Given the description of an element on the screen output the (x, y) to click on. 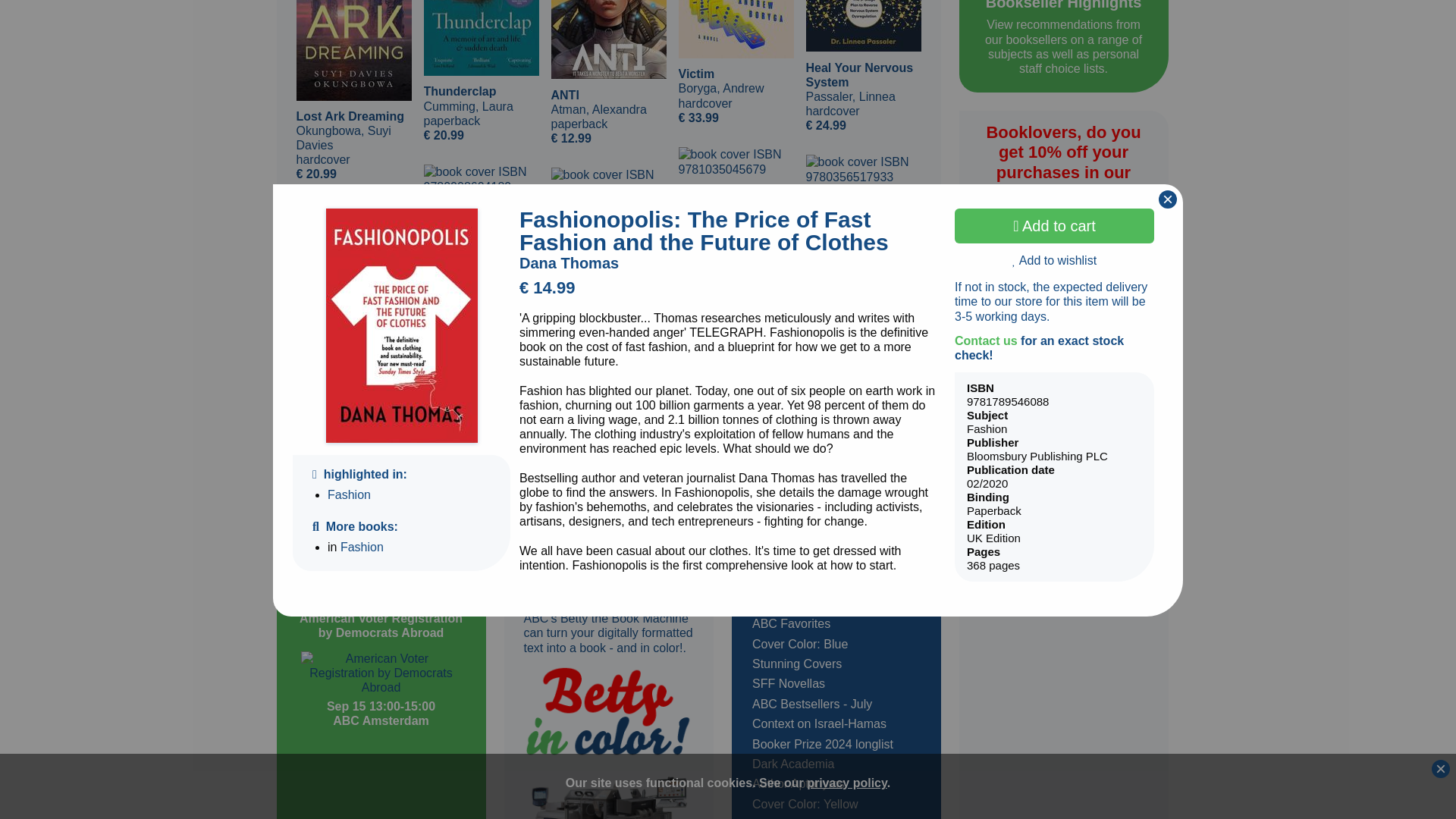
Victim (735, 29)
Thunderclap (480, 38)
Lost Ark Dreaming (352, 49)
Heal Your Nervous System (862, 25)
ANTI (607, 39)
